Given the description of an element on the screen output the (x, y) to click on. 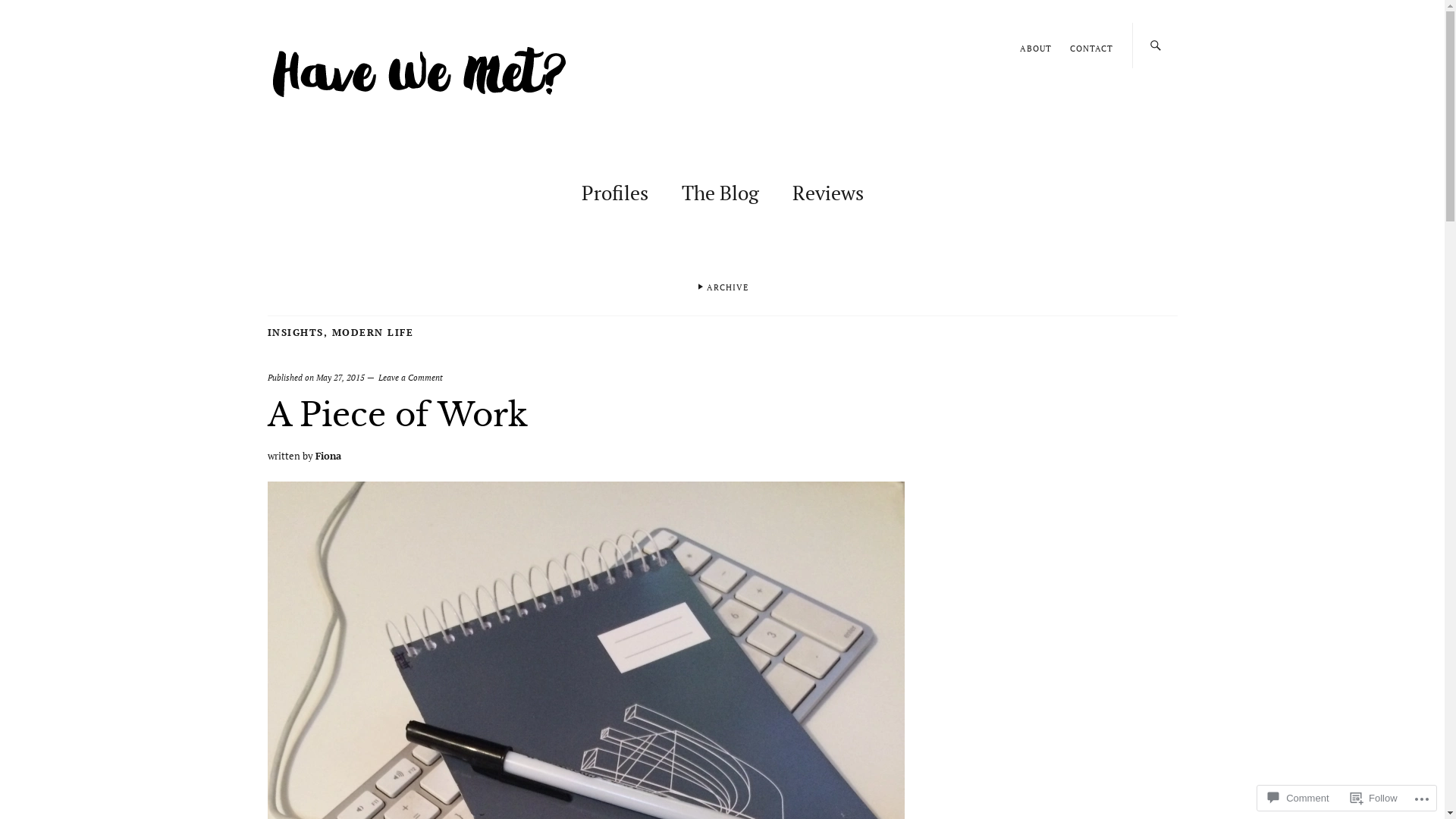
ABOUT Element type: text (1035, 48)
Leave a Comment Element type: text (409, 377)
INSIGHTS Element type: text (294, 331)
May 27, 2015 Element type: text (339, 377)
Follow Element type: text (1373, 797)
Reviews Element type: text (826, 189)
Have we met? Element type: text (316, 42)
ARCHIVE Element type: text (722, 290)
MODERN LIFE Element type: text (373, 331)
Profiles Element type: text (613, 189)
Comment Element type: text (1297, 797)
The Blog Element type: text (719, 189)
CONTACT Element type: text (1090, 48)
Fiona Element type: text (328, 455)
